Given the description of an element on the screen output the (x, y) to click on. 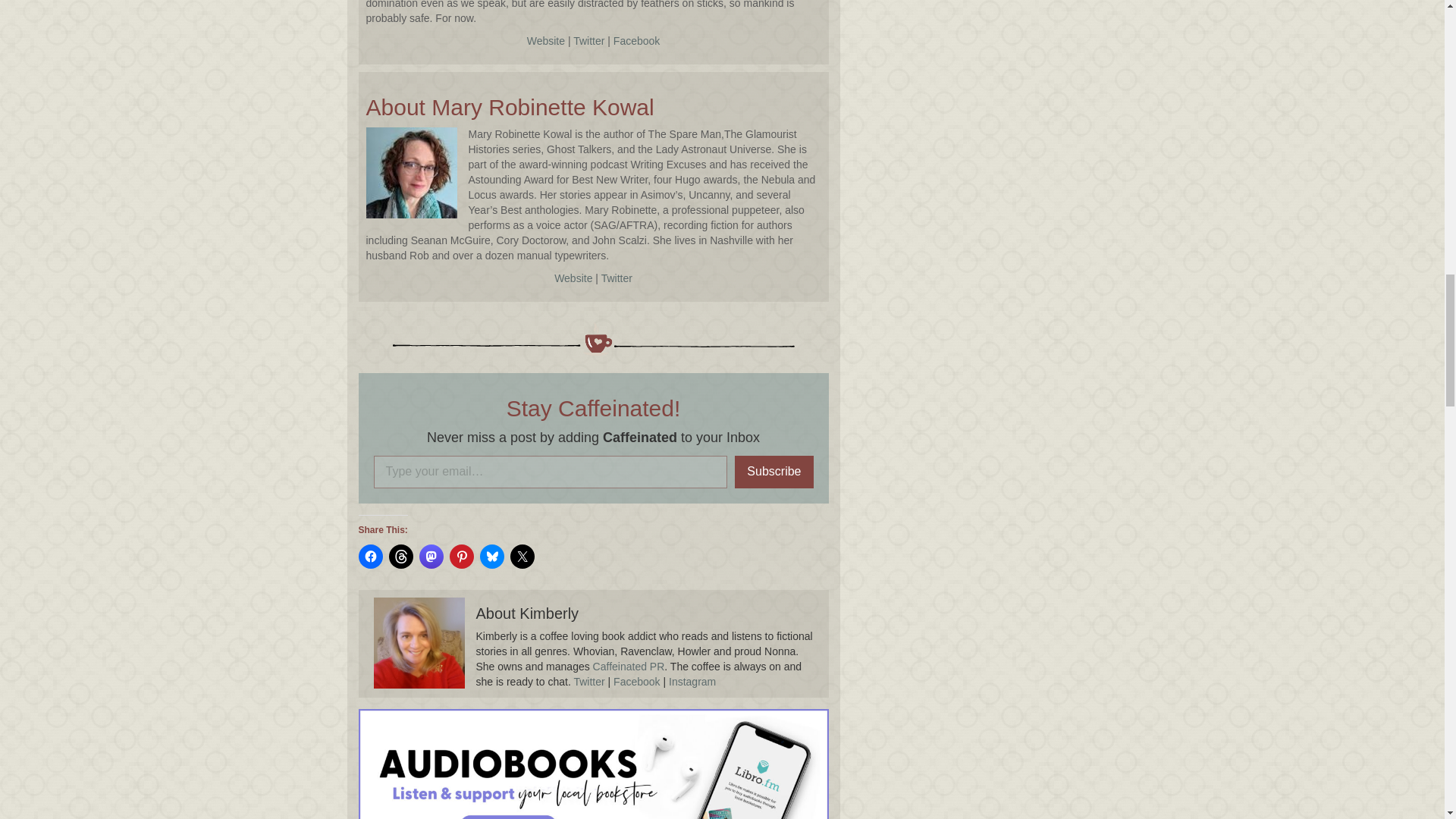
Click to share on Mastodon (430, 556)
Click to share on Pinterest (460, 556)
Click to share on Facebook (369, 556)
Please fill in this field. (549, 471)
Click to share on Bluesky (491, 556)
Click to share on X (521, 556)
Click to share on Threads (400, 556)
